Given the description of an element on the screen output the (x, y) to click on. 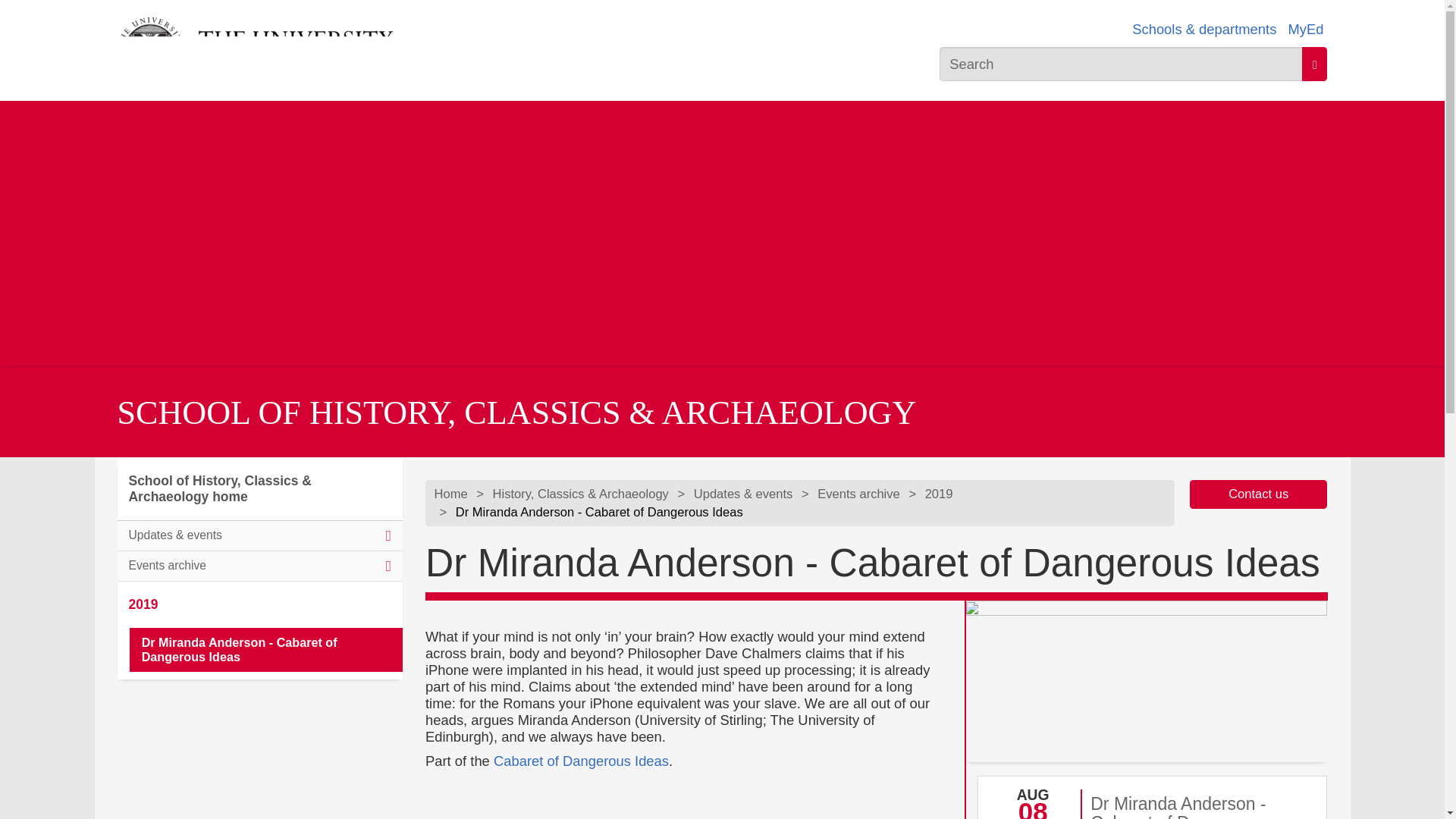
MyEd (1305, 28)
Events archive (259, 566)
Events archive (857, 494)
2019 (938, 494)
Home (450, 494)
Dr Miranda Anderson - Cabaret of Dangerous Ideas (266, 650)
2019 (259, 603)
Cabaret of Dangerous Ideas (580, 760)
Contact us (1258, 493)
